Given the description of an element on the screen output the (x, y) to click on. 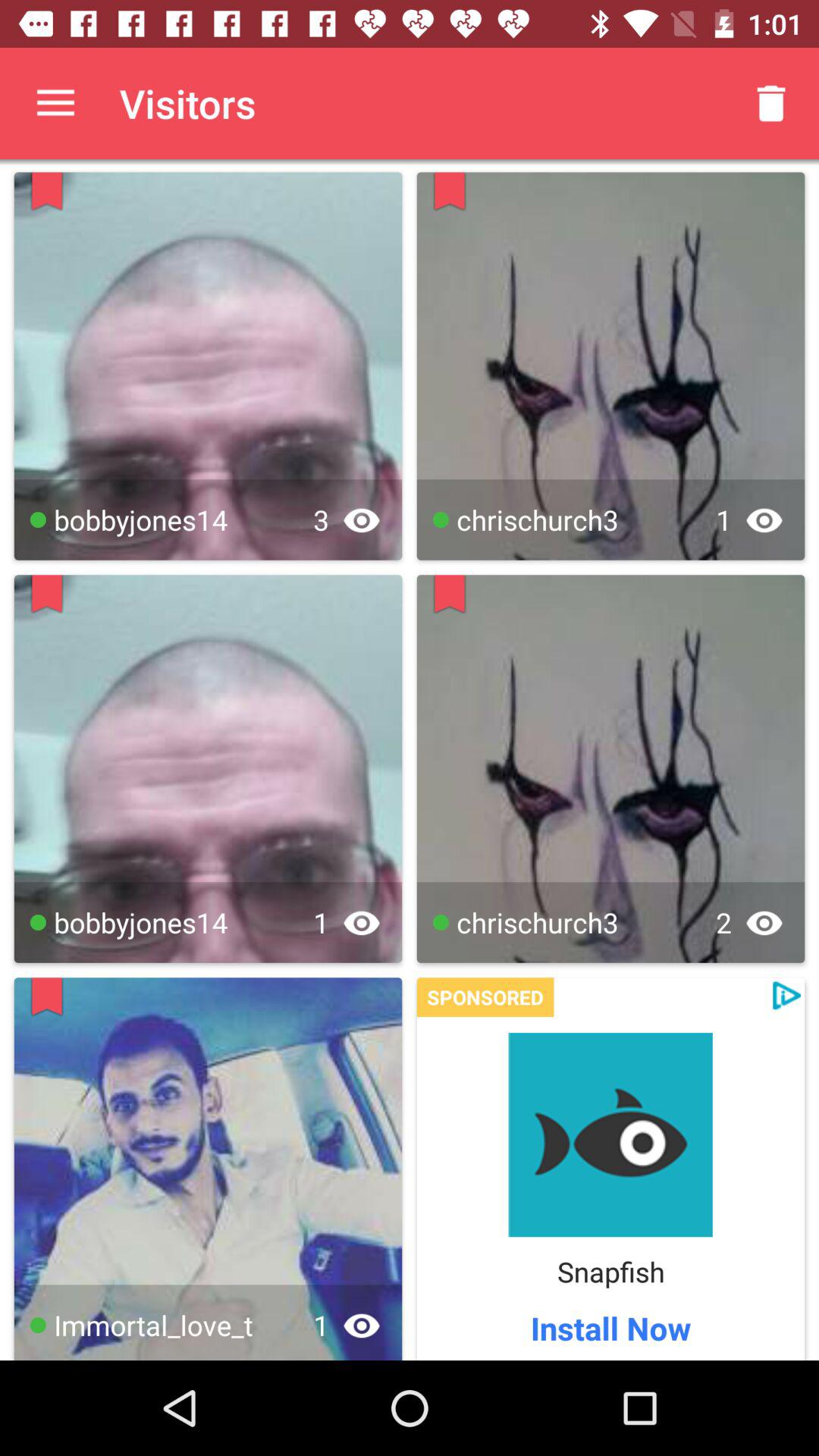
tap the snapfish item (610, 1271)
